Given the description of an element on the screen output the (x, y) to click on. 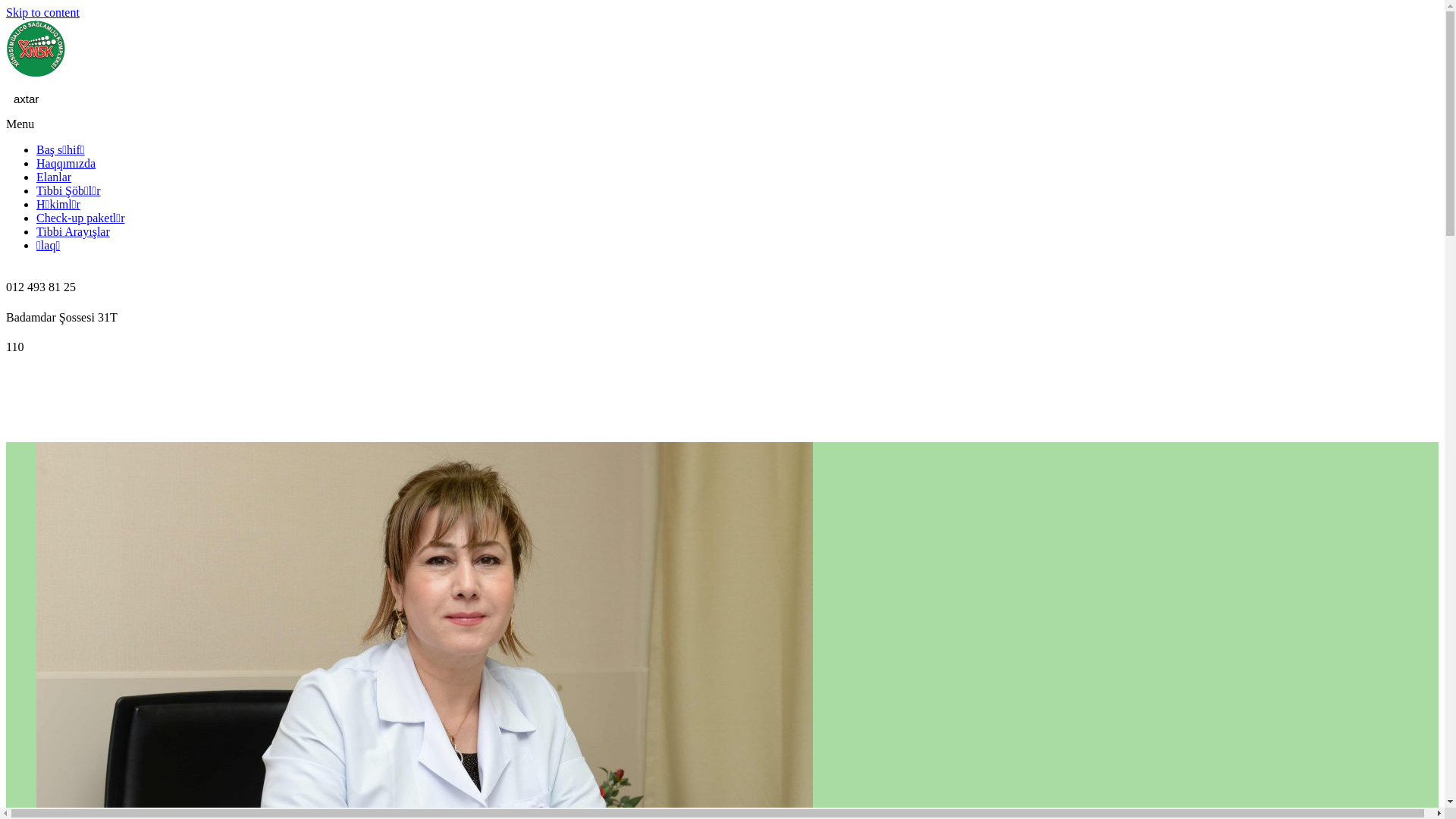
Search Element type: hover (708, 98)
Elanlar Element type: text (53, 176)
Search Element type: text (1426, 98)
Skip to content Element type: text (42, 12)
012 493 81 25 Element type: text (722, 279)
110 Element type: text (722, 339)
